Given the description of an element on the screen output the (x, y) to click on. 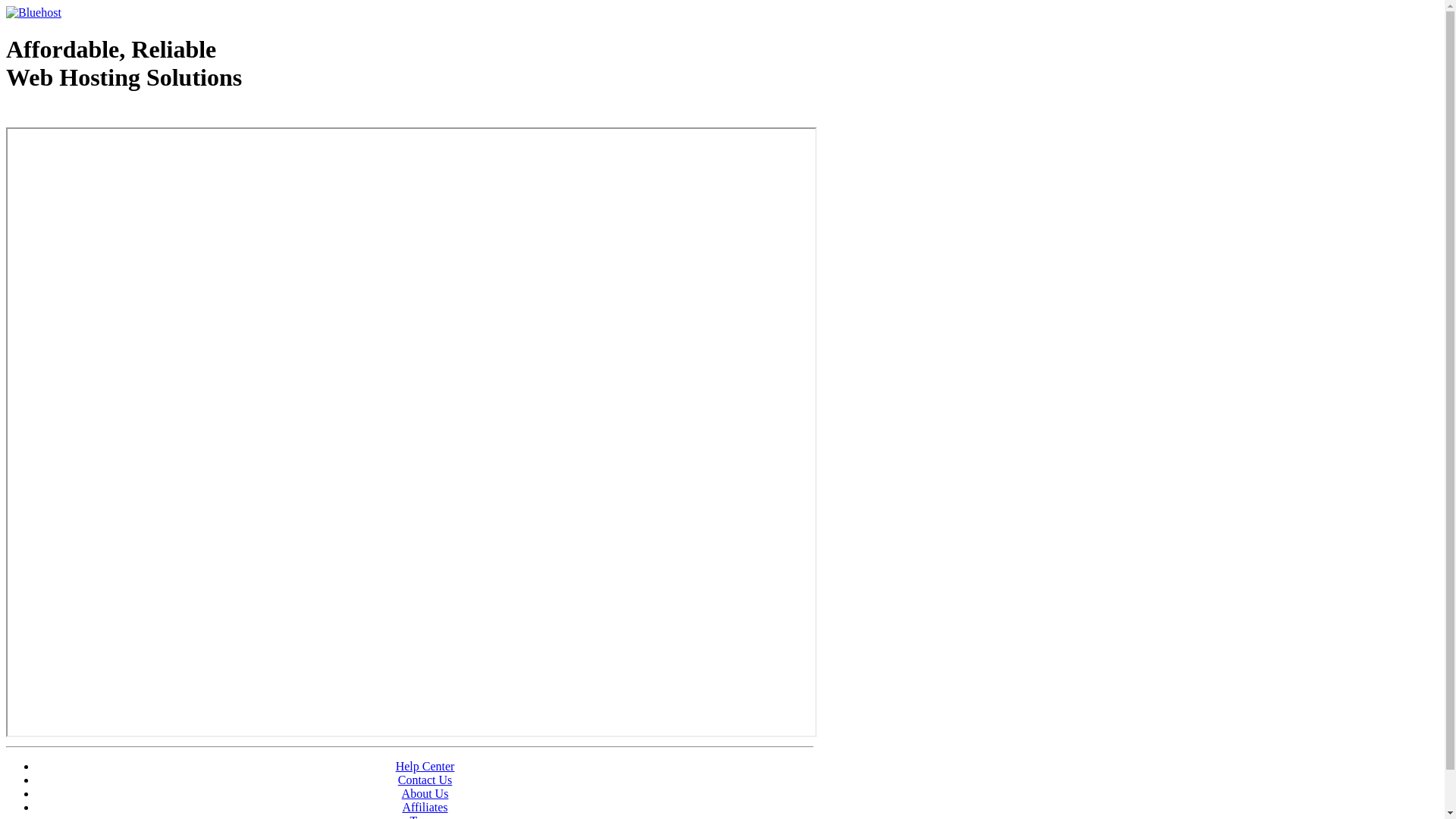
Affiliates Element type: text (424, 806)
About Us Element type: text (424, 793)
Contact Us Element type: text (425, 779)
Help Center Element type: text (425, 765)
Web Hosting - courtesy of www.bluehost.com Element type: text (94, 115)
